Given the description of an element on the screen output the (x, y) to click on. 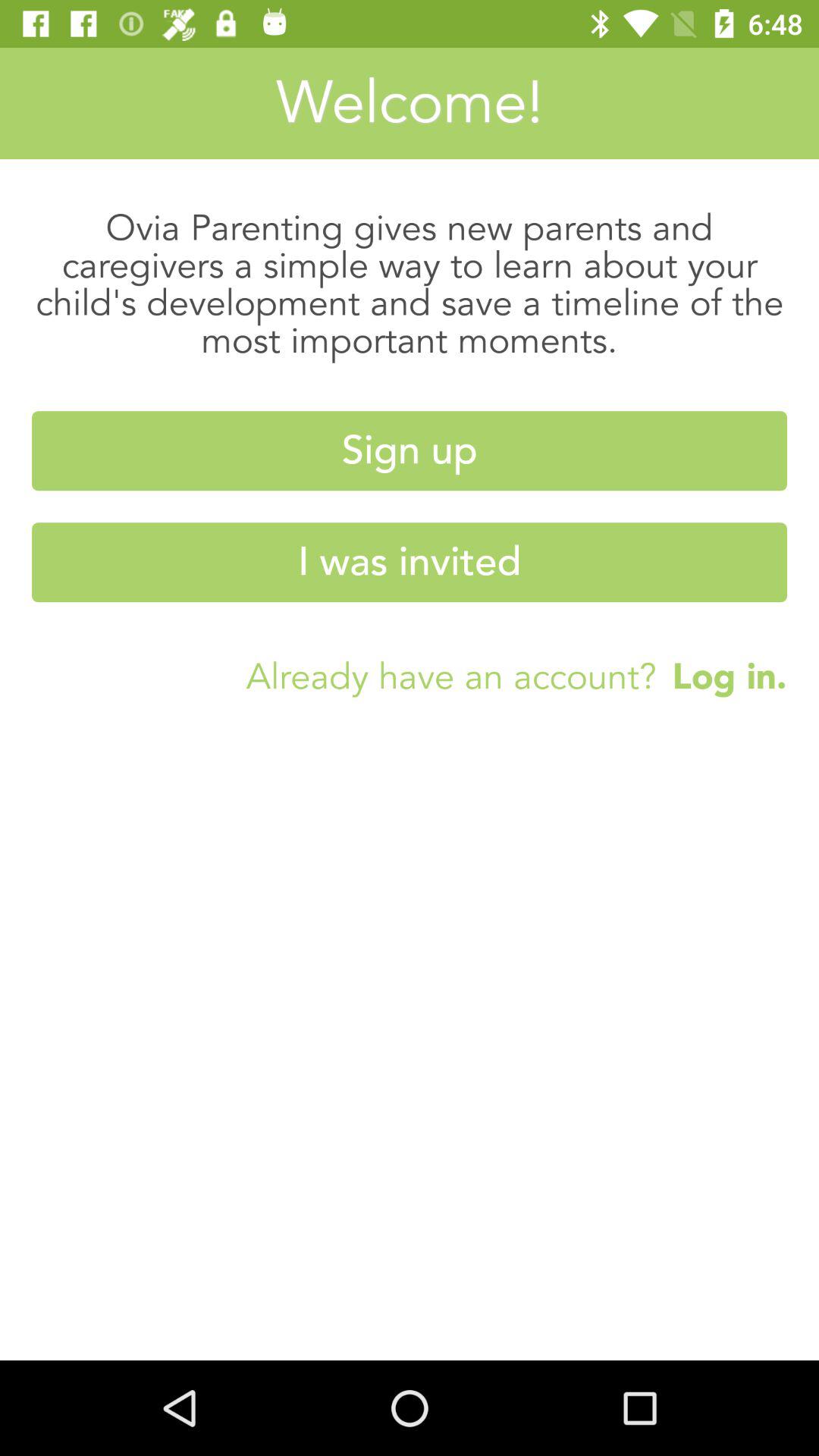
turn on sign up (409, 450)
